Given the description of an element on the screen output the (x, y) to click on. 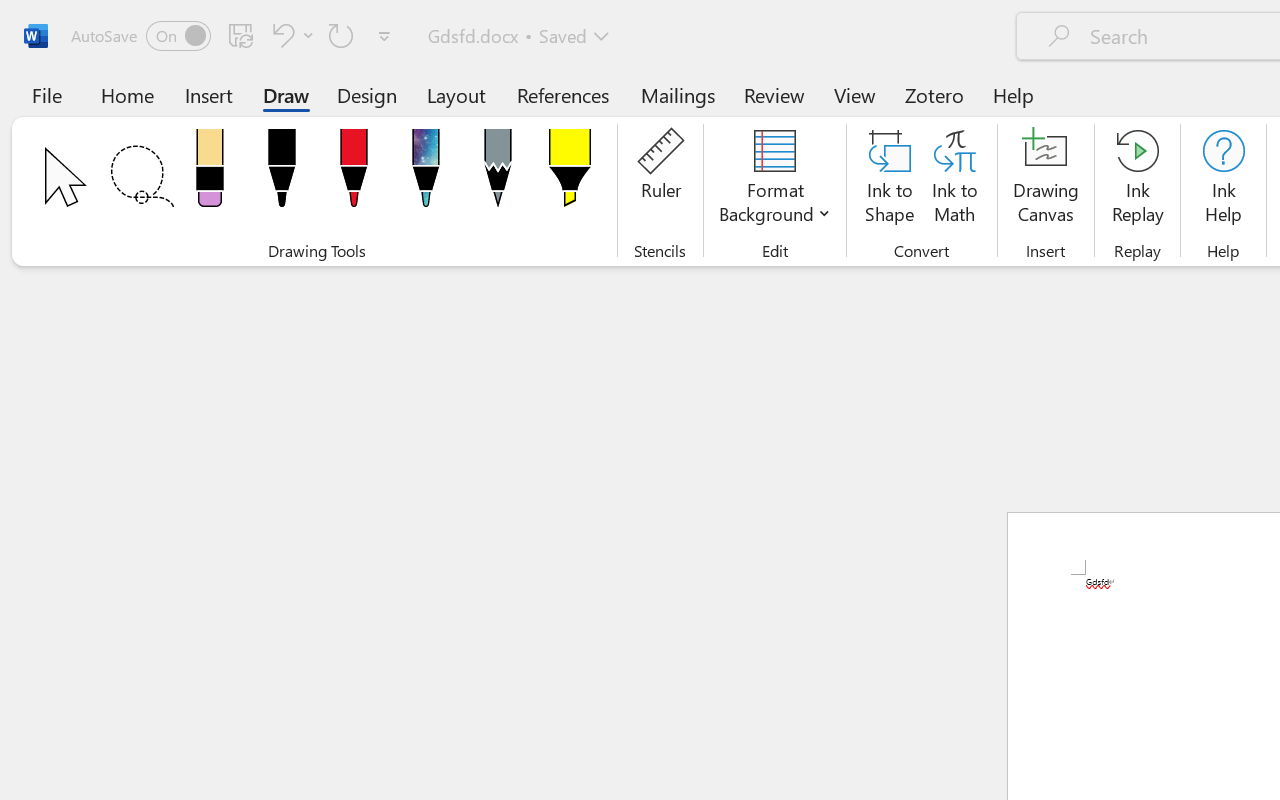
Drawing Canvas (1045, 179)
Undo Apply Quick Style (290, 35)
Ink to Shape (889, 179)
Format Background (774, 179)
Undo Apply Quick Style (280, 35)
Highlighter: Yellow, 6 mm (569, 173)
Ink to Math (954, 179)
Ink Help (1223, 179)
Can't Repeat (341, 35)
Pencil: Gray, 1 mm (497, 173)
